Given the description of an element on the screen output the (x, y) to click on. 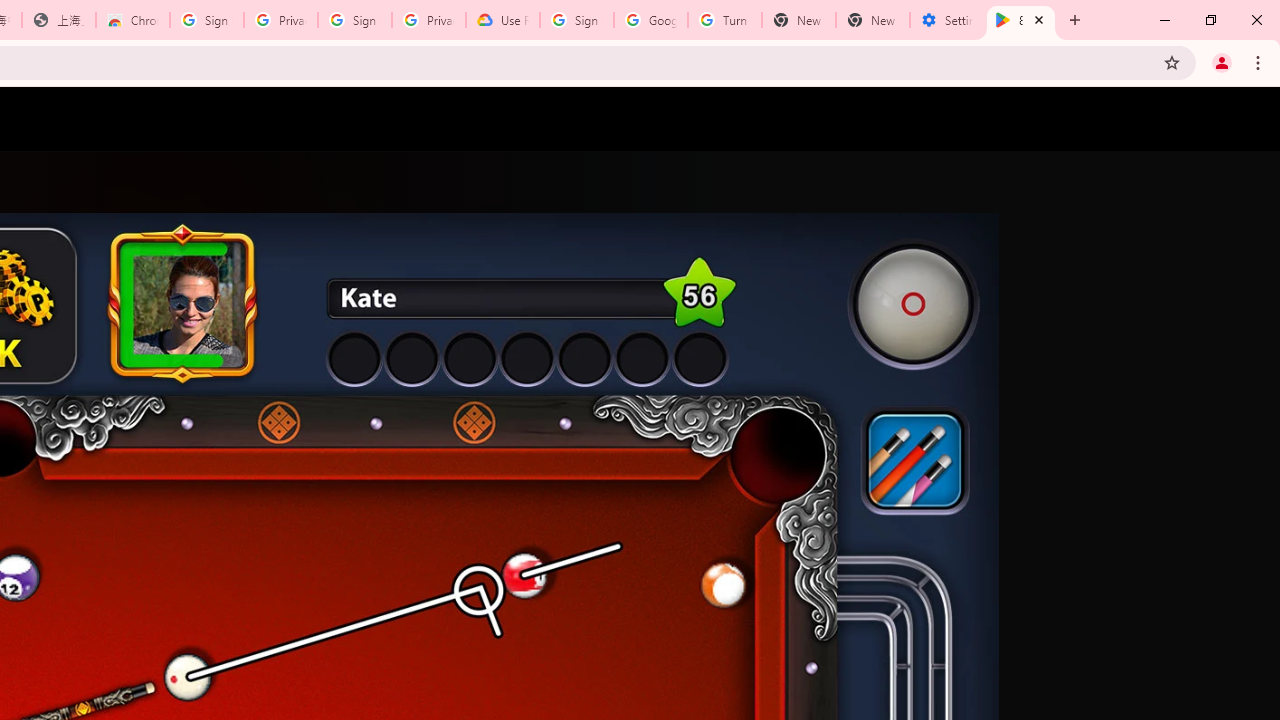
Sign in - Google Accounts (207, 20)
8 Ball Pool - Apps on Google Play (1021, 20)
Sign in - Google Accounts (354, 20)
Help Center (1197, 119)
Turn cookies on or off - Computer - Google Account Help (724, 20)
